Given the description of an element on the screen output the (x, y) to click on. 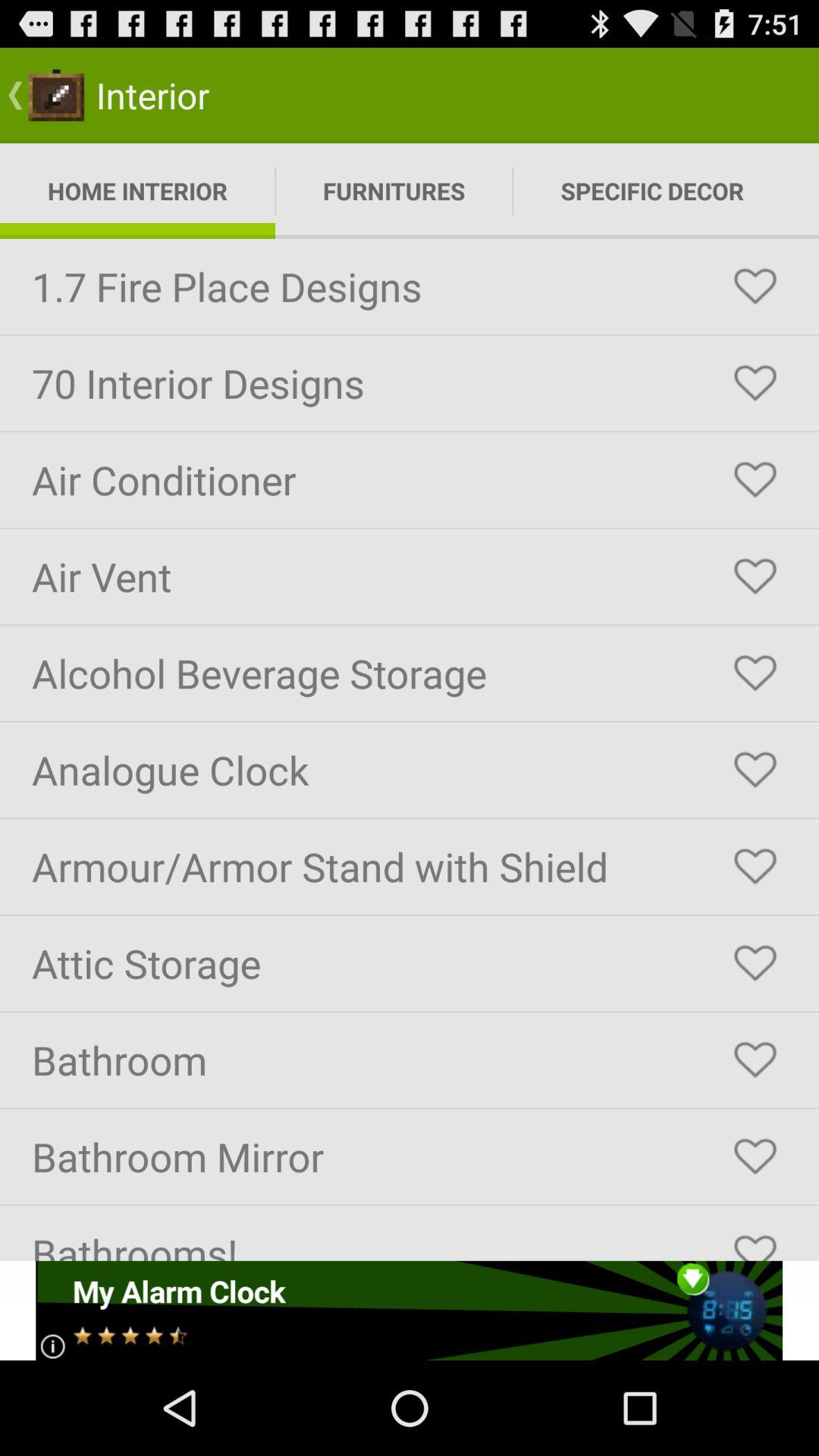
favorite interior design piece (755, 1156)
